Given the description of an element on the screen output the (x, y) to click on. 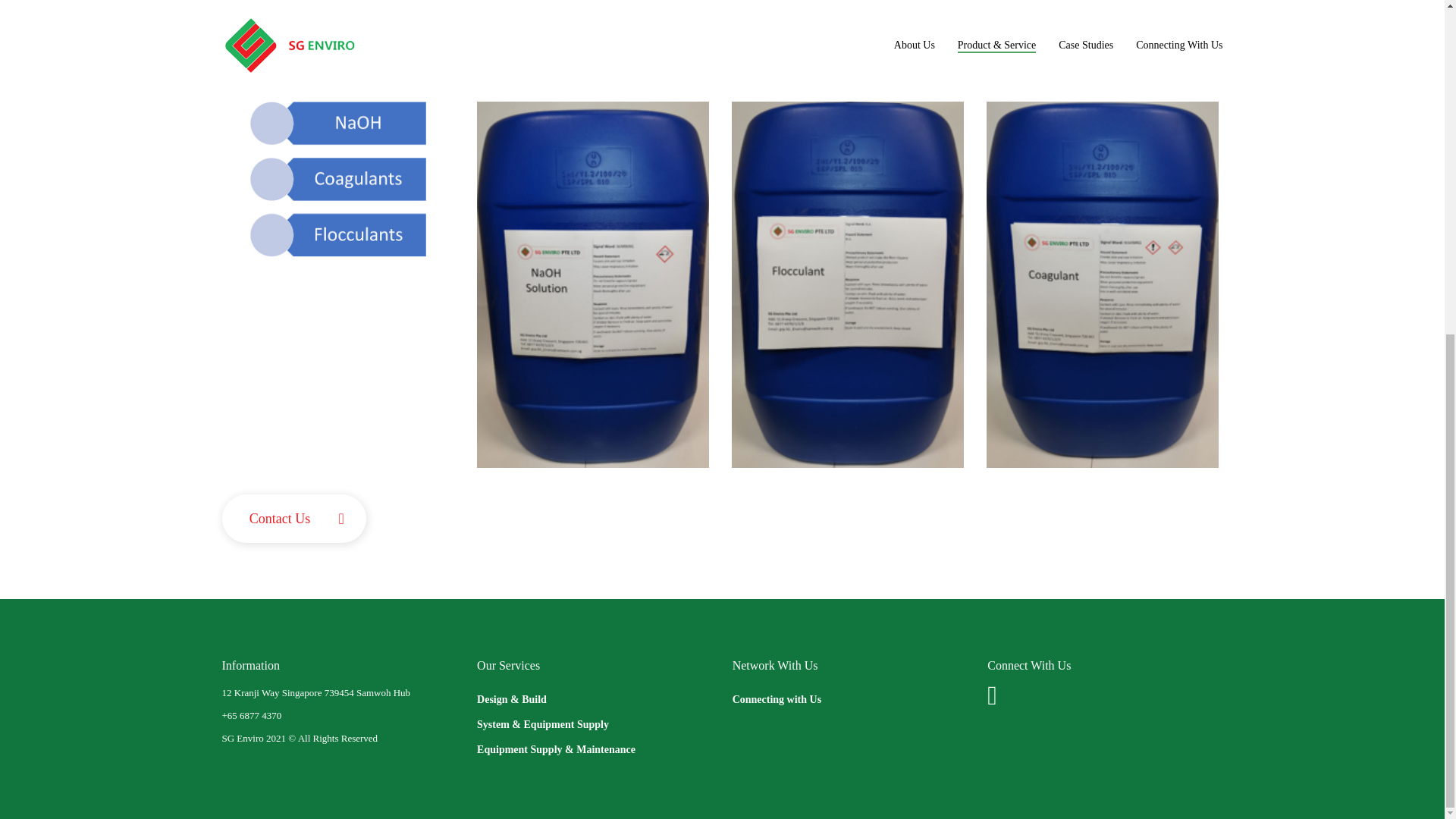
Connecting with Us (850, 699)
Contact Us (294, 518)
